Given the description of an element on the screen output the (x, y) to click on. 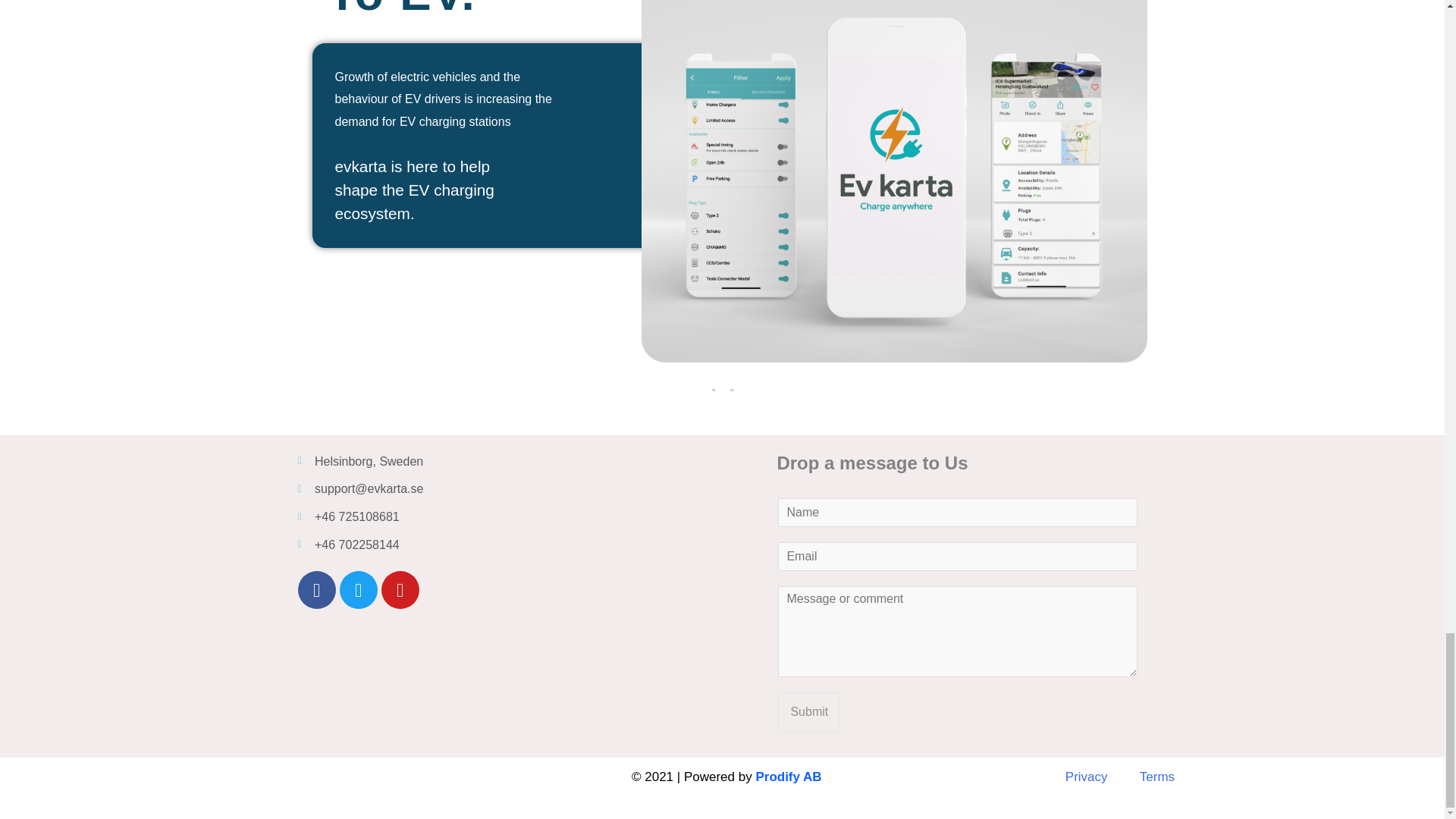
Privacy (1086, 776)
Submit (808, 712)
Prodify AB (788, 776)
Helsinborg, Sweden (609, 564)
Terms (1157, 776)
